Given the description of an element on the screen output the (x, y) to click on. 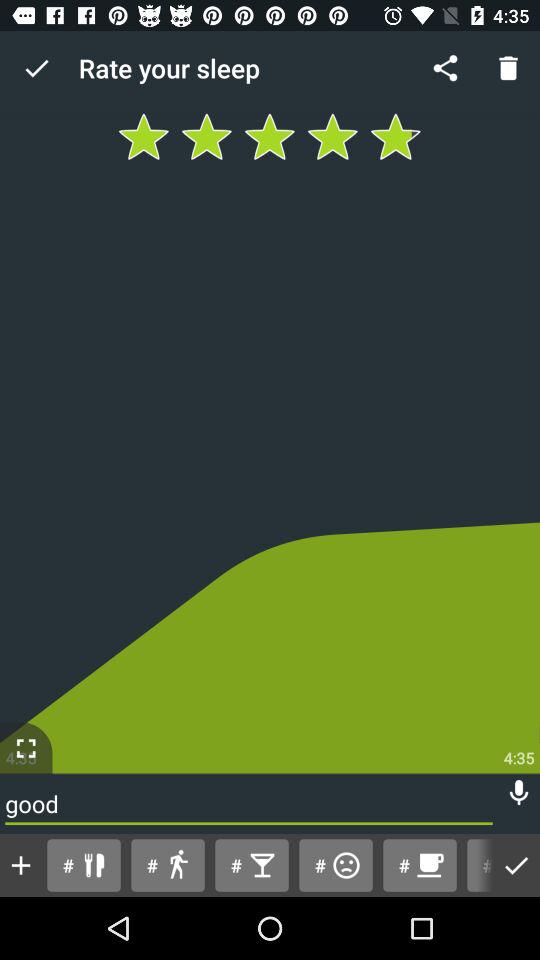
activate voice entry (519, 792)
